Given the description of an element on the screen output the (x, y) to click on. 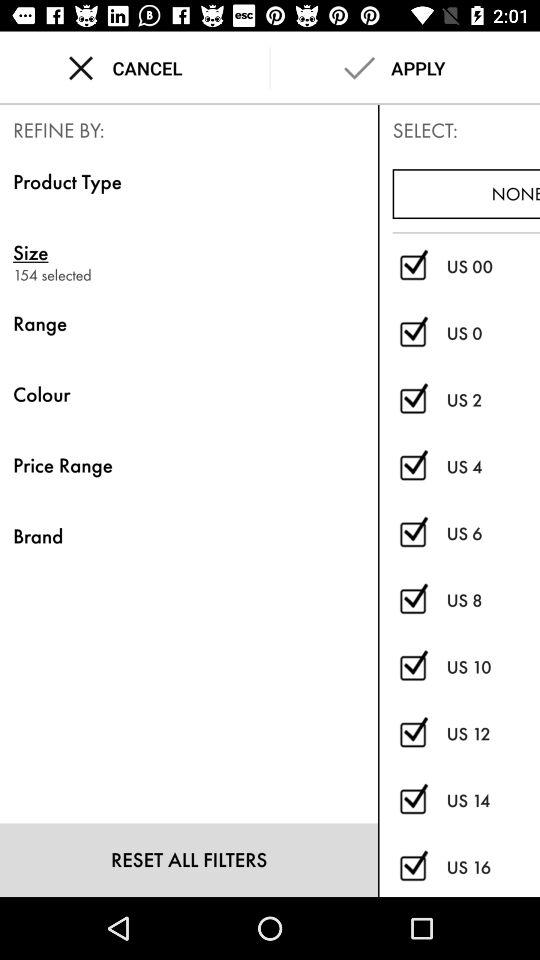
choose size (412, 867)
